Given the description of an element on the screen output the (x, y) to click on. 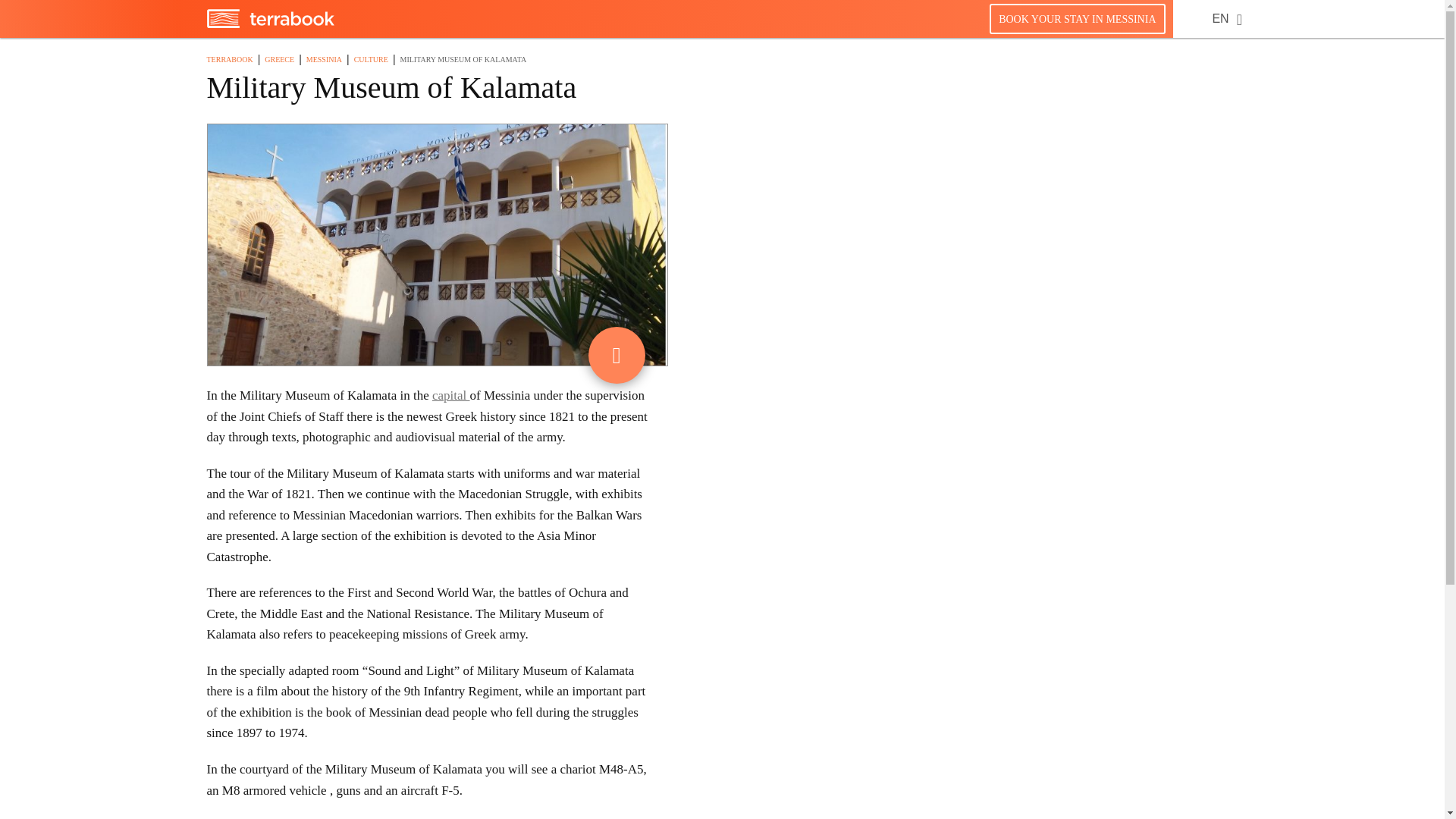
MESSINIA (323, 59)
EN (1220, 18)
Terrabook (269, 24)
GREECE (279, 59)
TERRABOOK (228, 59)
CULTURE (370, 59)
Book your stay in Messinia (1077, 18)
capital (451, 395)
BOOK YOUR STAY IN MESSINIA (1077, 18)
Kalamata (451, 395)
